Given the description of an element on the screen output the (x, y) to click on. 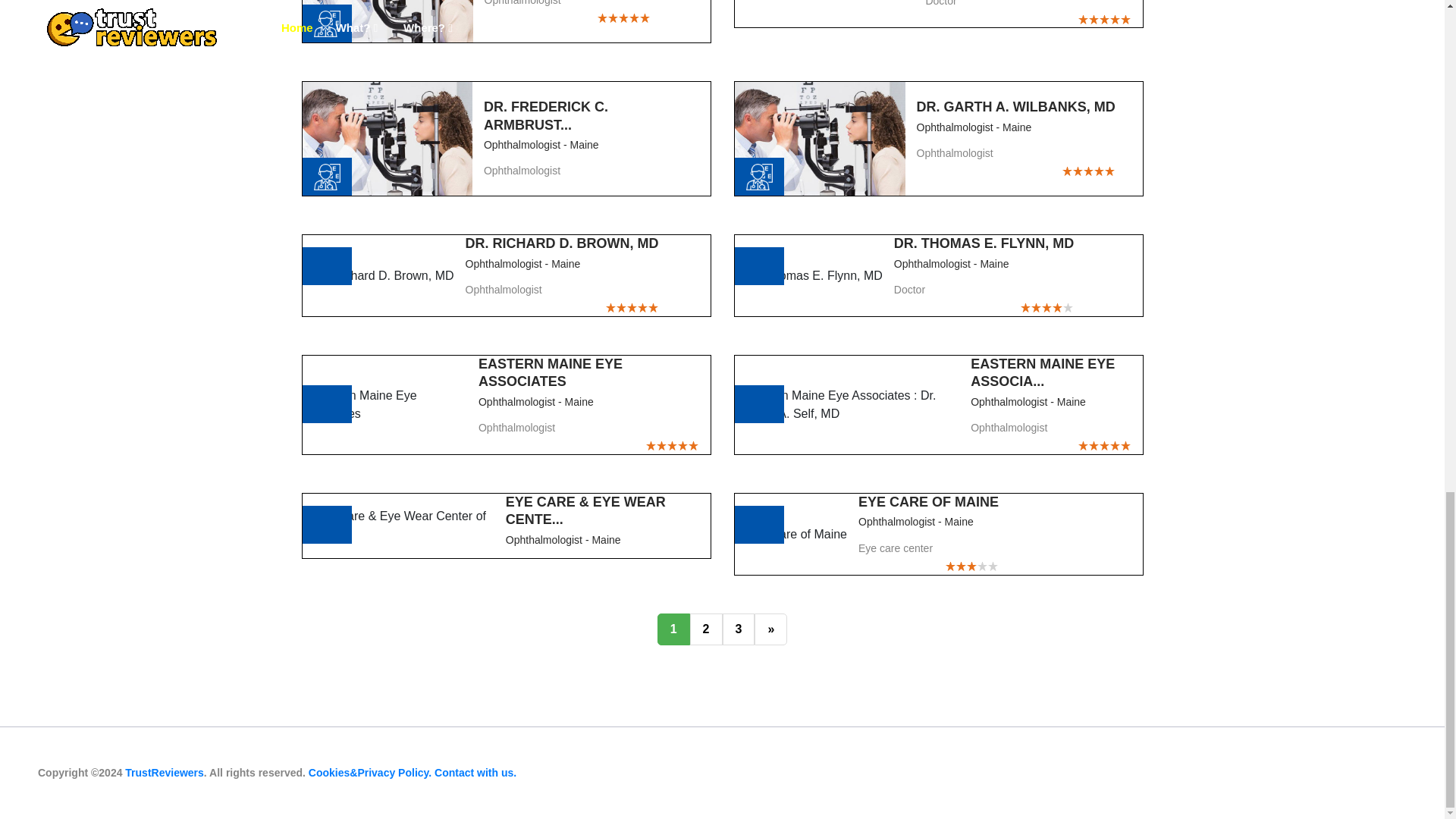
Contact TrustReviewers.com (474, 772)
